Given the description of an element on the screen output the (x, y) to click on. 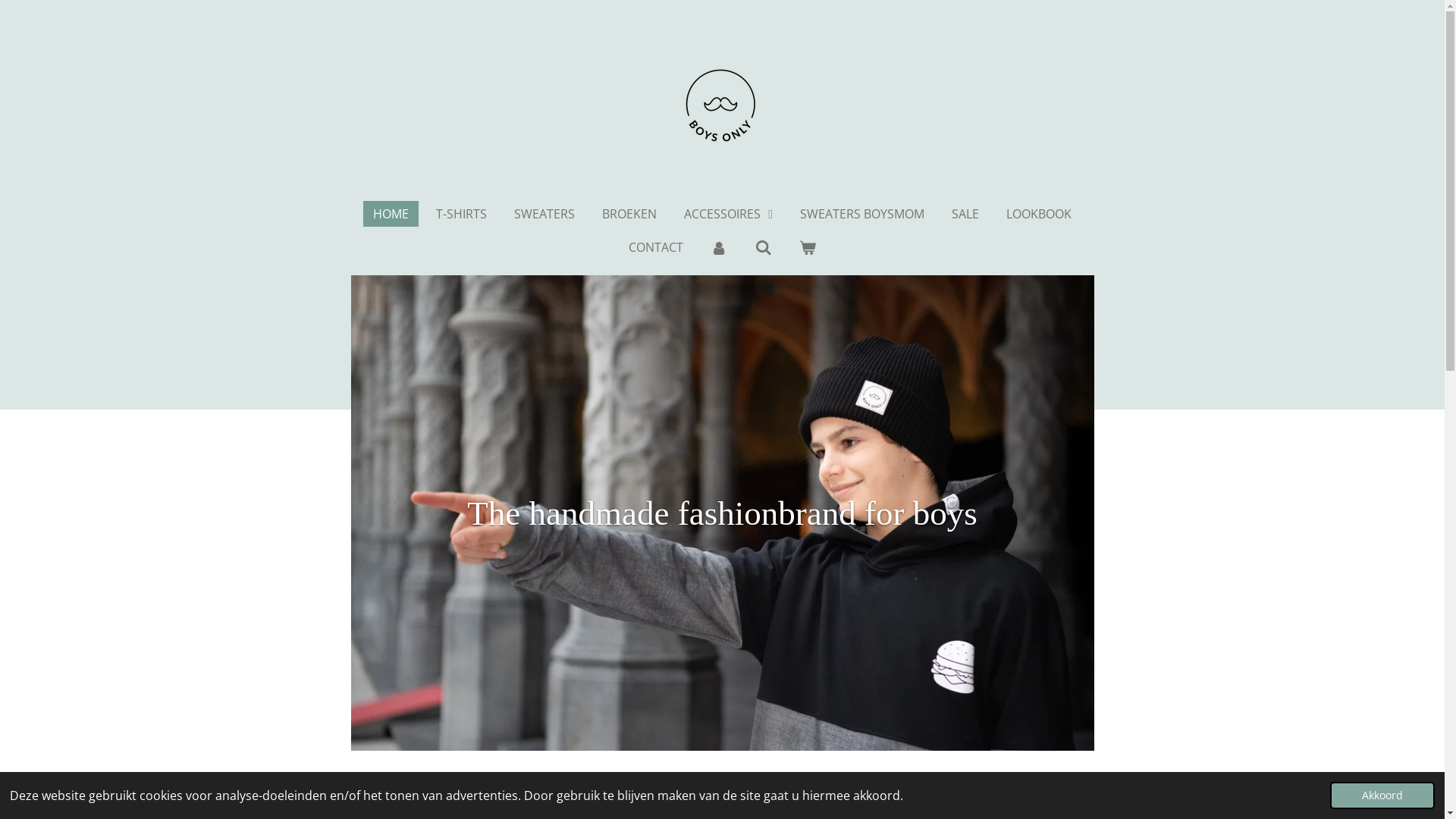
ACCESSOIRES Element type: text (728, 213)
CONTACT Element type: text (655, 247)
BROEKEN Element type: text (629, 213)
SWEATERS BOYSMOM Element type: text (862, 213)
T-SHIRTS Element type: text (461, 213)
HOME Element type: text (390, 213)
LOOKBOOK Element type: text (1038, 213)
SWEATERS Element type: text (544, 213)
Account Element type: hover (718, 247)
Bekijk winkelwagen Element type: hover (807, 247)
Zoeken Element type: hover (762, 247)
SALE Element type: text (964, 213)
Akkoord Element type: text (1382, 795)
